Given the description of an element on the screen output the (x, y) to click on. 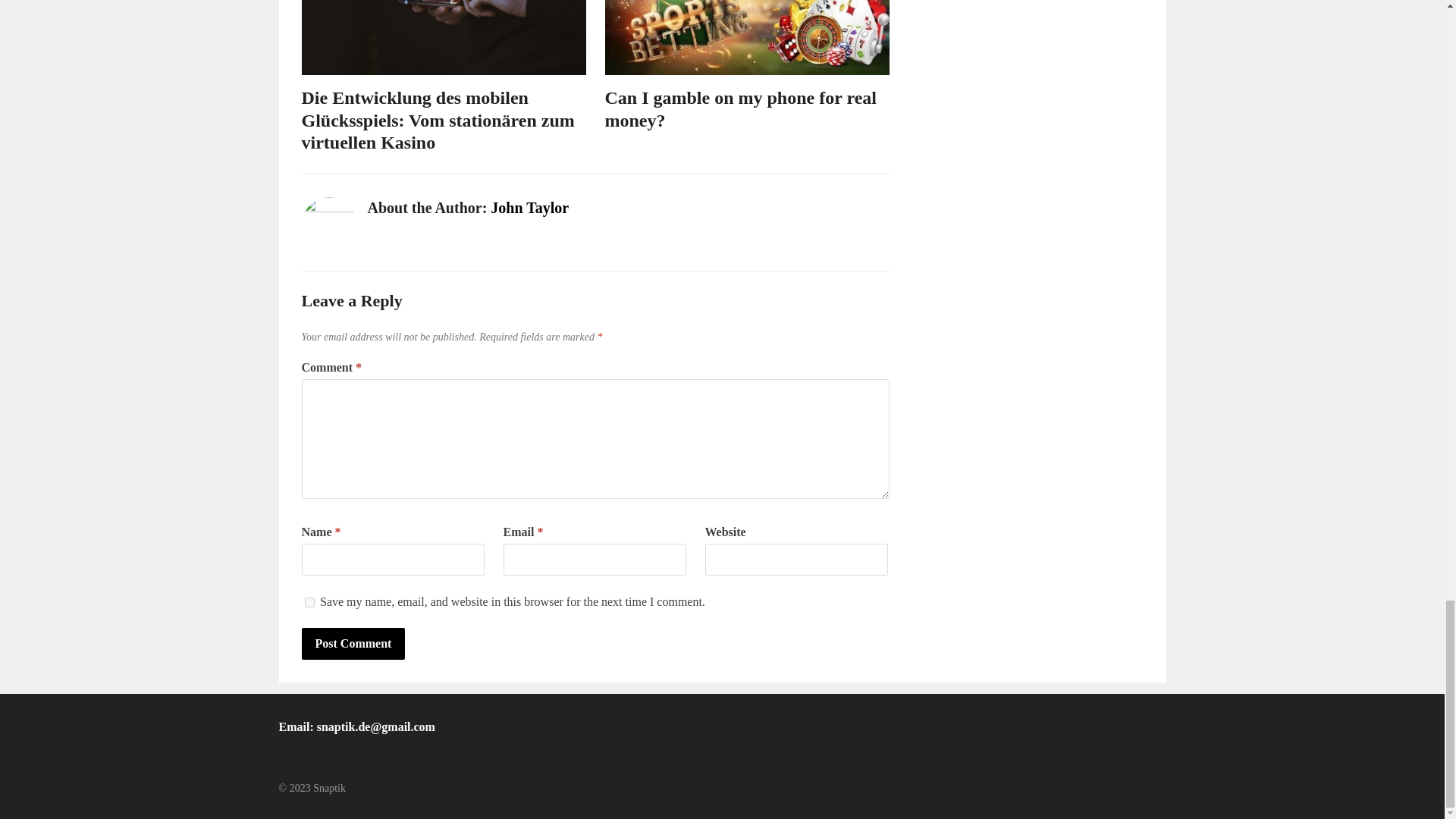
Post Comment (353, 644)
John Taylor (529, 207)
Can I gamble on my phone for real money? (740, 108)
yes (309, 602)
